Given the description of an element on the screen output the (x, y) to click on. 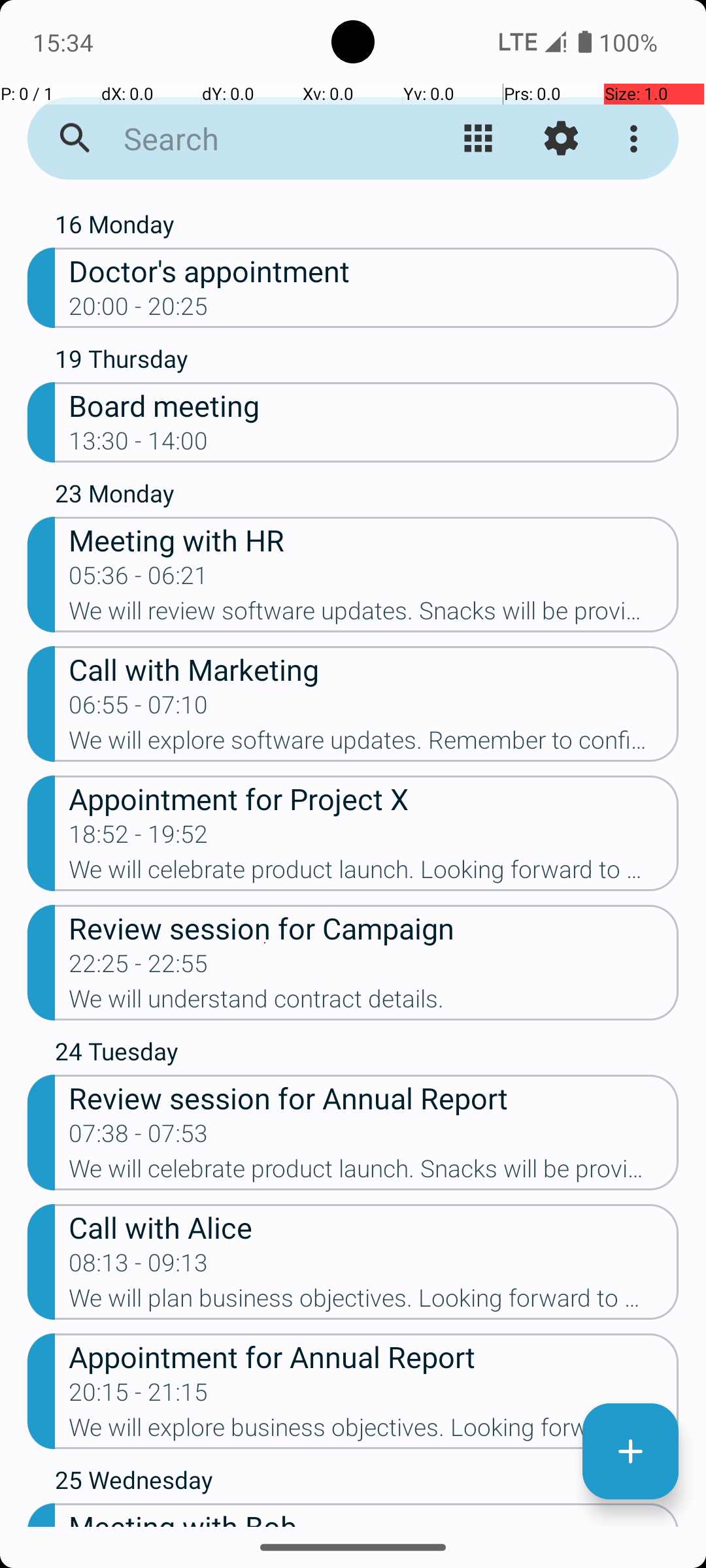
24 Tuesday Element type: android.widget.TextView (366, 1054)
25 Wednesday Element type: android.widget.TextView (366, 1482)
Doctor's appointment Element type: android.widget.TextView (373, 269)
20:00 - 20:25 Element type: android.widget.TextView (137, 309)
Board meeting Element type: android.widget.TextView (373, 404)
13:30 - 14:00 Element type: android.widget.TextView (137, 444)
05:36 - 06:21 Element type: android.widget.TextView (137, 579)
We will review software updates. Snacks will be provided. Element type: android.widget.TextView (373, 614)
06:55 - 07:10 Element type: android.widget.TextView (137, 708)
We will explore software updates. Remember to confirm attendance. Element type: android.widget.TextView (373, 743)
18:52 - 19:52 Element type: android.widget.TextView (137, 837)
We will celebrate product launch. Looking forward to productive discussions. Element type: android.widget.TextView (373, 873)
22:25 - 22:55 Element type: android.widget.TextView (137, 967)
We will understand contract details. Element type: android.widget.TextView (373, 1002)
07:38 - 07:53 Element type: android.widget.TextView (137, 1137)
We will celebrate product launch. Snacks will be provided. Element type: android.widget.TextView (373, 1172)
08:13 - 09:13 Element type: android.widget.TextView (137, 1266)
We will plan business objectives. Looking forward to productive discussions. Element type: android.widget.TextView (373, 1301)
20:15 - 21:15 Element type: android.widget.TextView (137, 1395)
We will explore business objectives. Looking forward to productive discussions. Element type: android.widget.TextView (373, 1431)
